Given the description of an element on the screen output the (x, y) to click on. 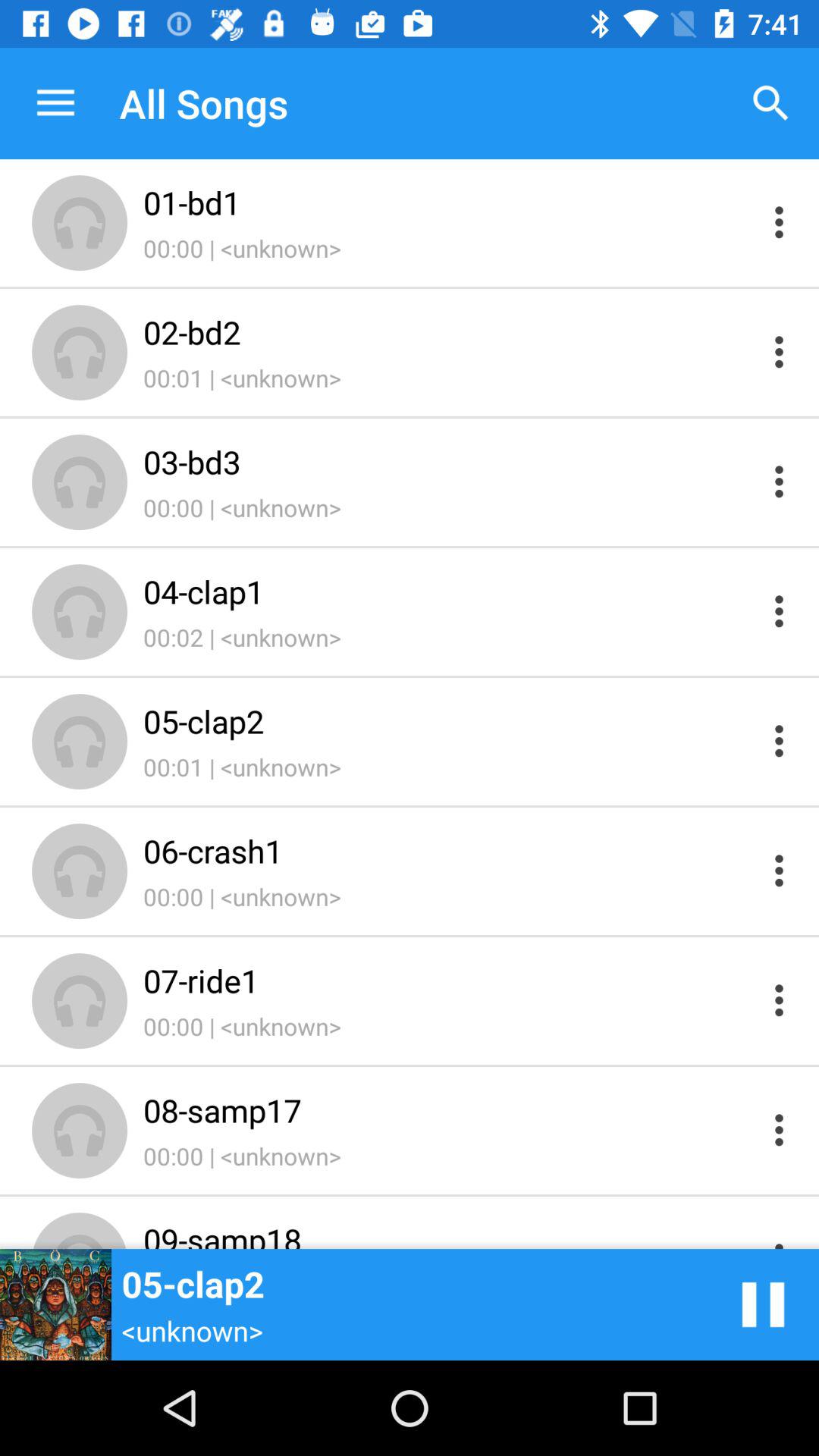
open menu (779, 740)
